Given the description of an element on the screen output the (x, y) to click on. 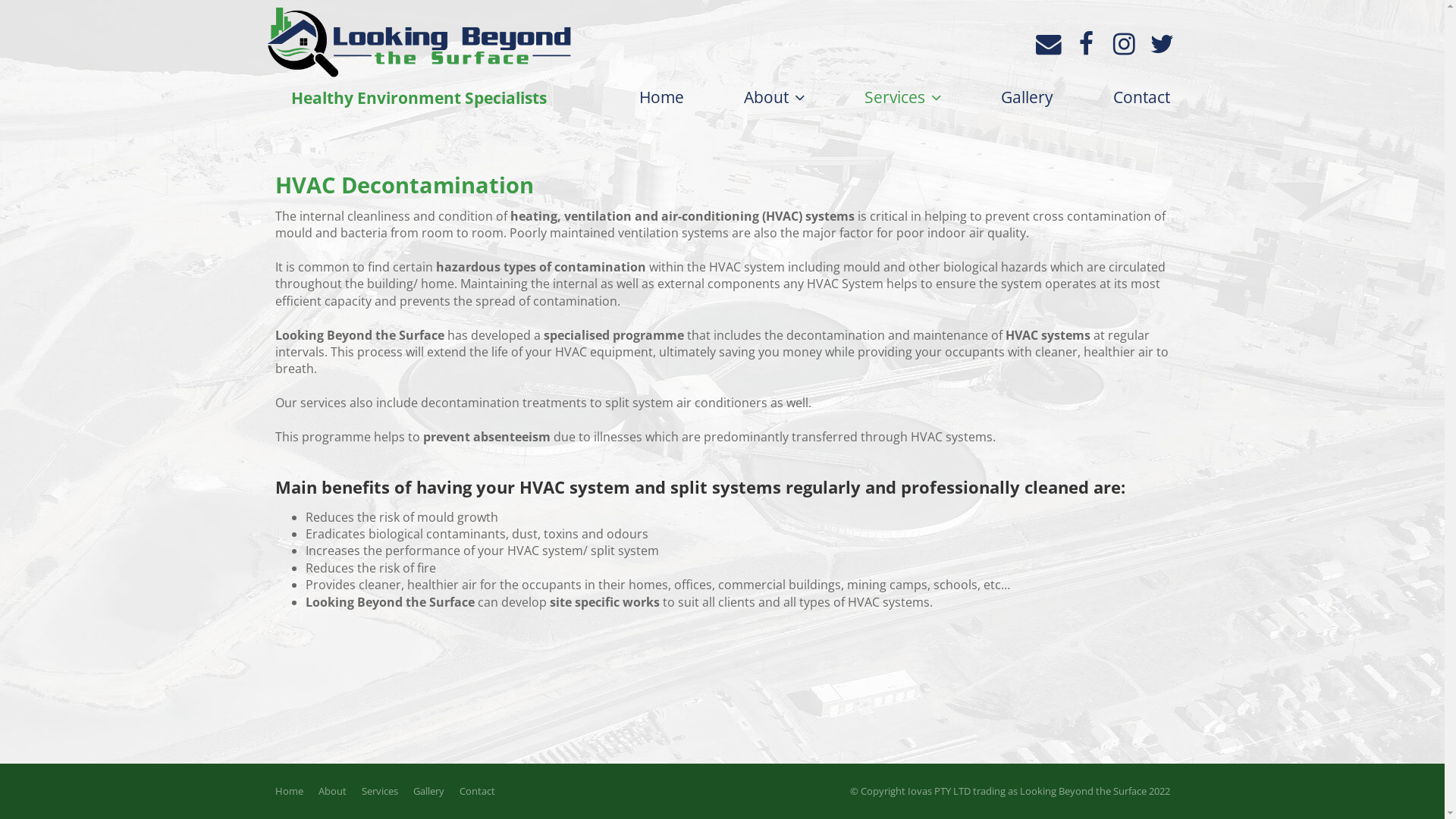
Gallery Element type: text (1026, 96)
Contact Element type: text (1141, 96)
About Element type: text (332, 790)
Services Element type: text (902, 97)
Services Element type: text (378, 790)
Healthy Environment Specialists Element type: text (418, 60)
Gallery Element type: text (427, 790)
About Element type: text (773, 97)
Home Element type: text (288, 790)
Home Element type: text (660, 96)
Contact Element type: text (476, 790)
